Given the description of an element on the screen output the (x, y) to click on. 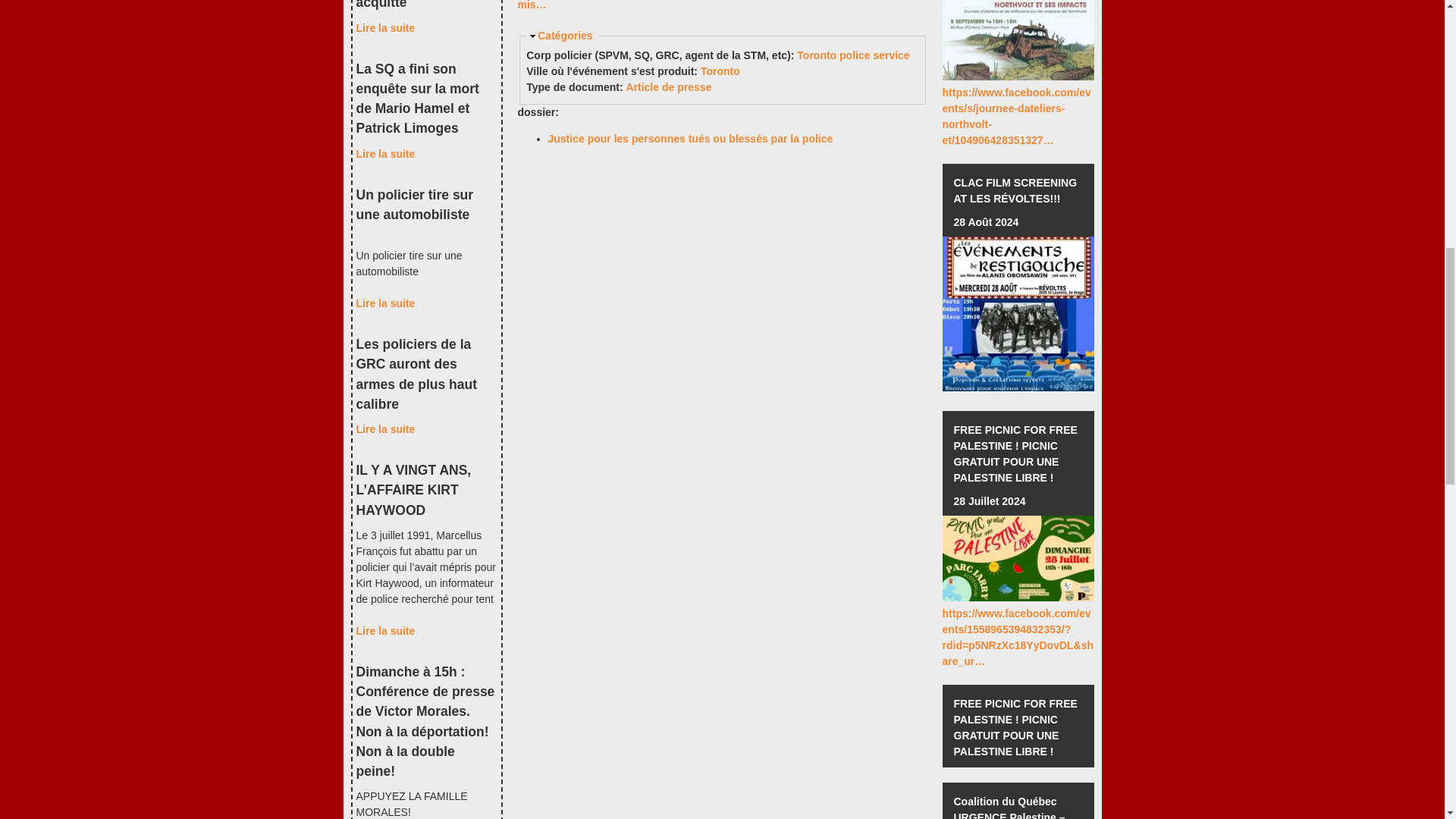
Toronto (719, 70)
Toronto police service (852, 55)
Un policier tire sur une automobiliste (385, 303)
Article de presse (668, 87)
